Given the description of an element on the screen output the (x, y) to click on. 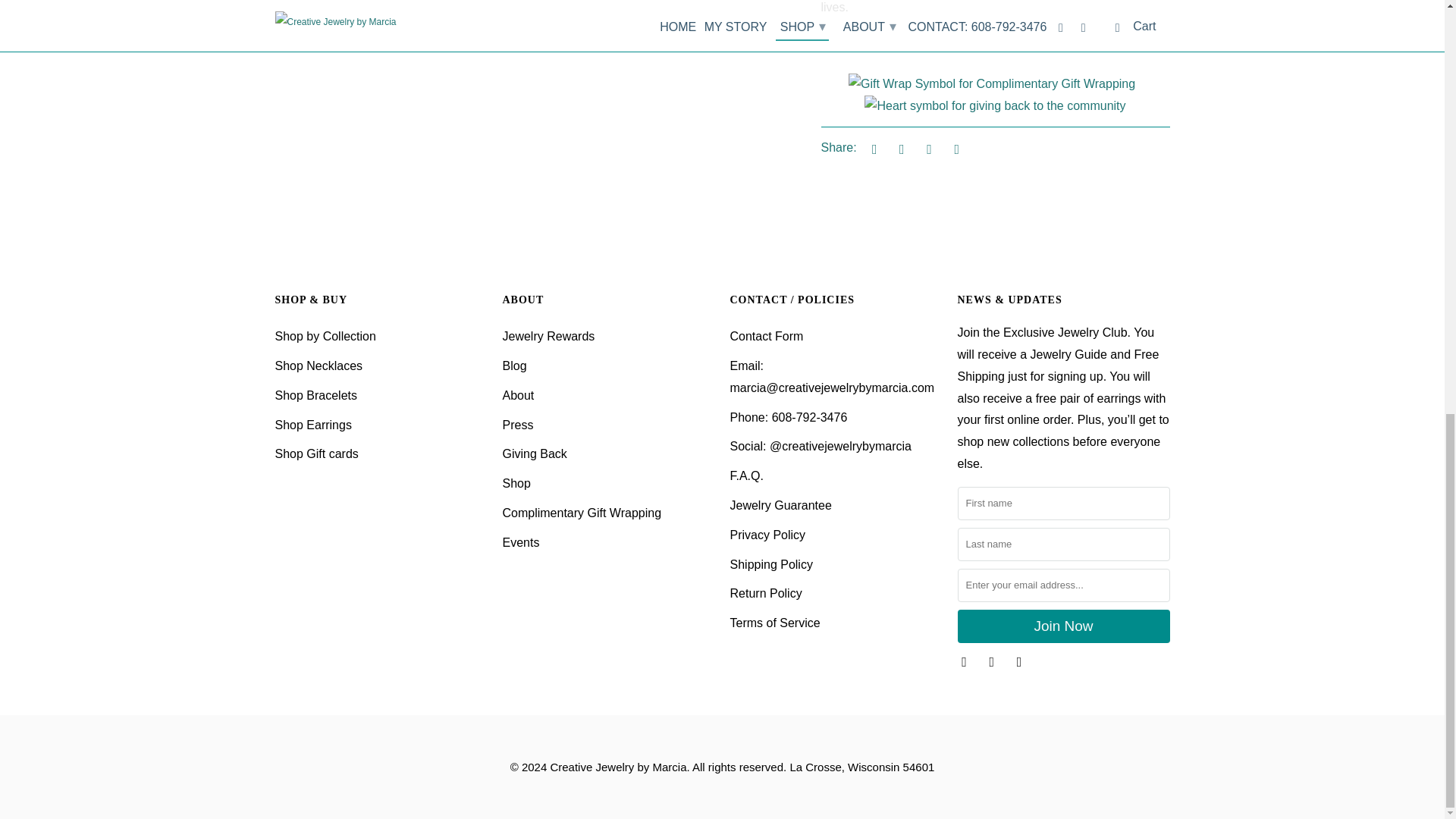
 Creative Jewelry by Marcia on Instagram (993, 661)
Share this on Twitter (871, 148)
Share this on Pinterest (927, 148)
Share this on Facebook (898, 148)
Join Now (1062, 625)
 Creative Jewelry by Marcia on Facebook (965, 661)
Email  Creative Jewelry by Marcia (1020, 661)
Email this to a friend (954, 148)
